Given the description of an element on the screen output the (x, y) to click on. 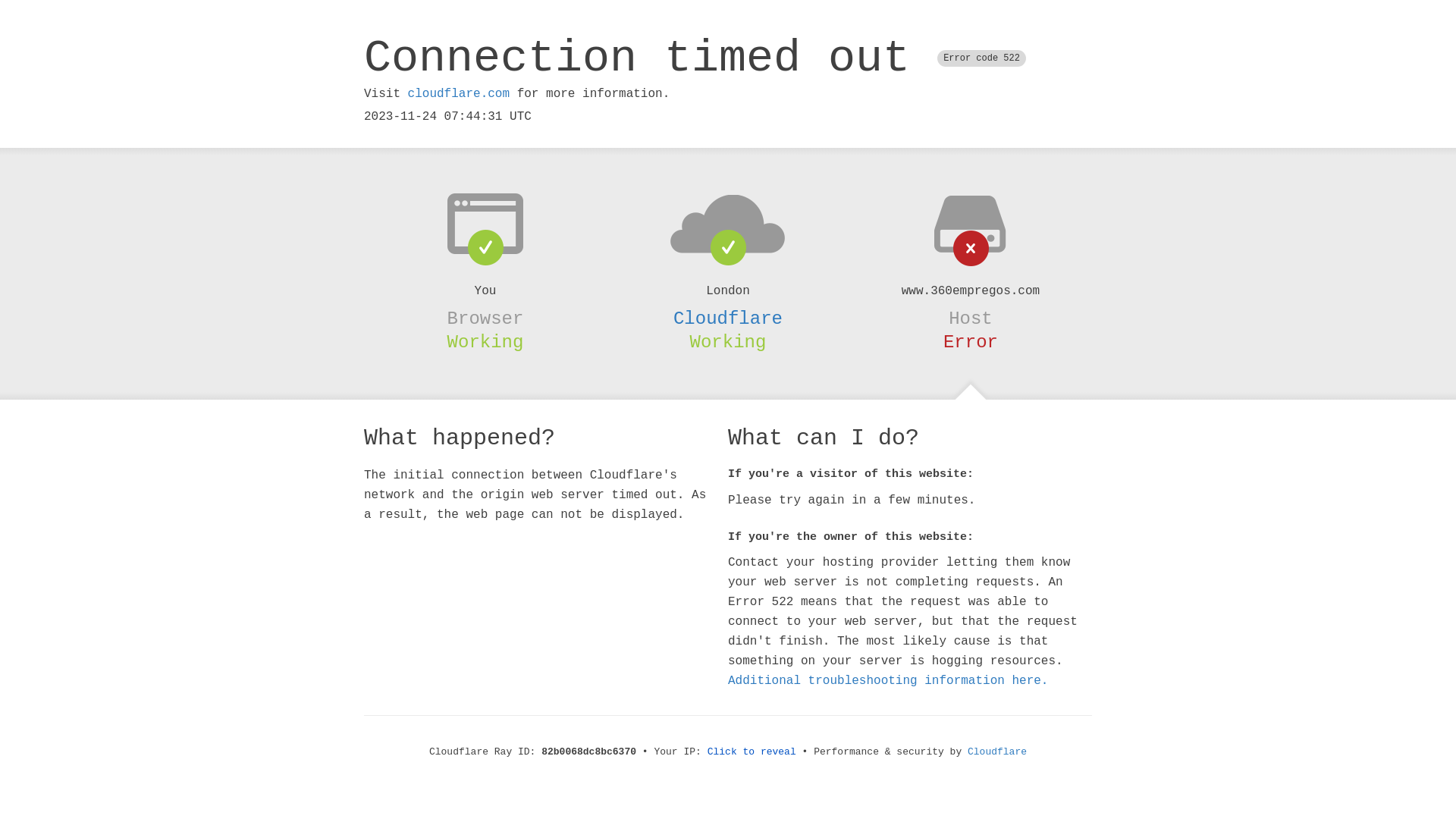
Cloudflare Element type: text (996, 751)
Cloudflare Element type: text (727, 318)
Additional troubleshooting information here. Element type: text (888, 680)
cloudflare.com Element type: text (458, 93)
Click to reveal Element type: text (751, 751)
